Given the description of an element on the screen output the (x, y) to click on. 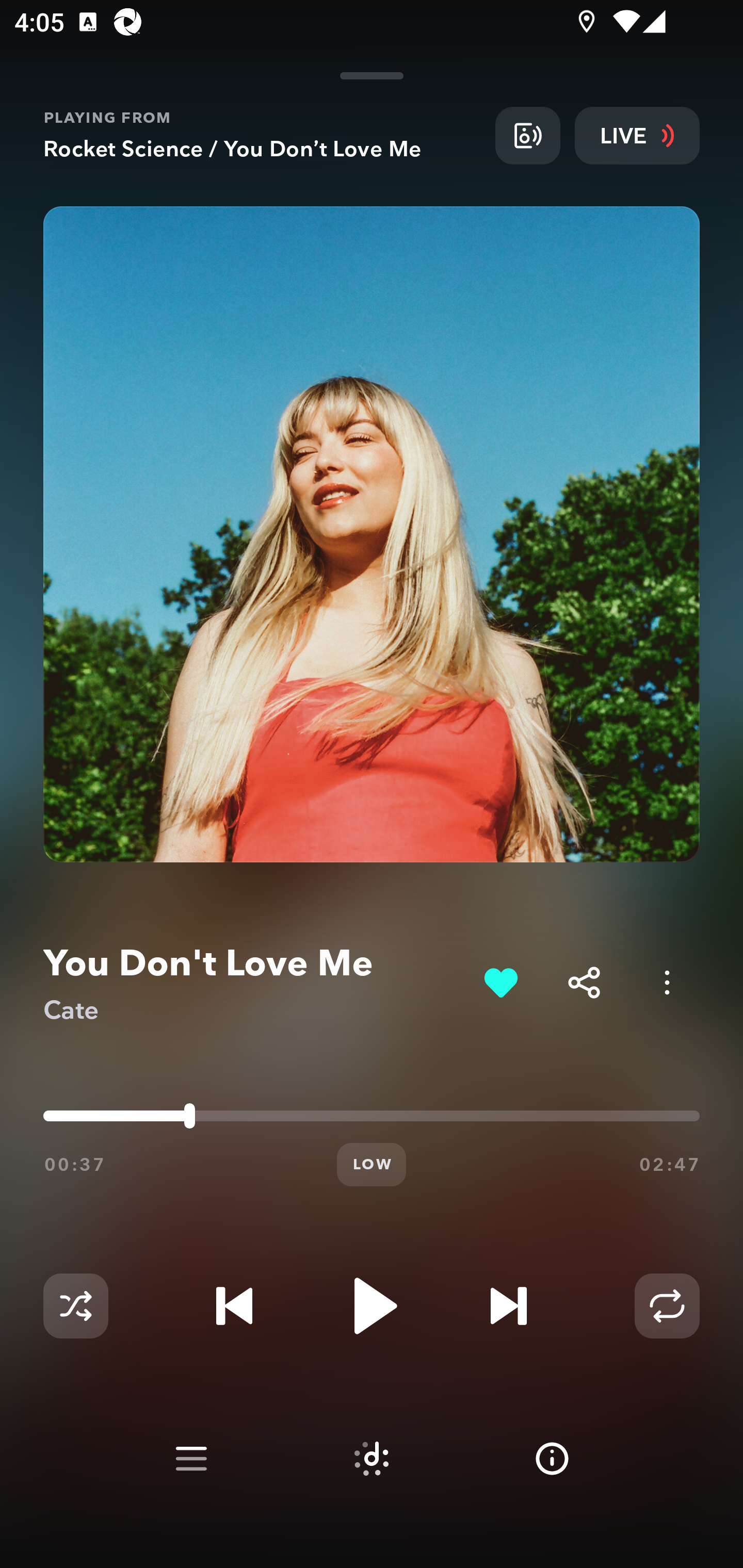
Broadcast (527, 135)
LIVE (637, 135)
PLAYING FROM Rocket Science / You Don’t Love Me (261, 135)
You Don't Love Me Cate (255, 983)
Remove from My Collection (500, 982)
Share (583, 982)
Options (666, 982)
LOW (371, 1164)
Play (371, 1306)
Previous (234, 1306)
Next (508, 1306)
Shuffle enabled (75, 1306)
Repeat All (666, 1306)
Play queue (191, 1458)
Suggested tracks (371, 1458)
Info (551, 1458)
